Given the description of an element on the screen output the (x, y) to click on. 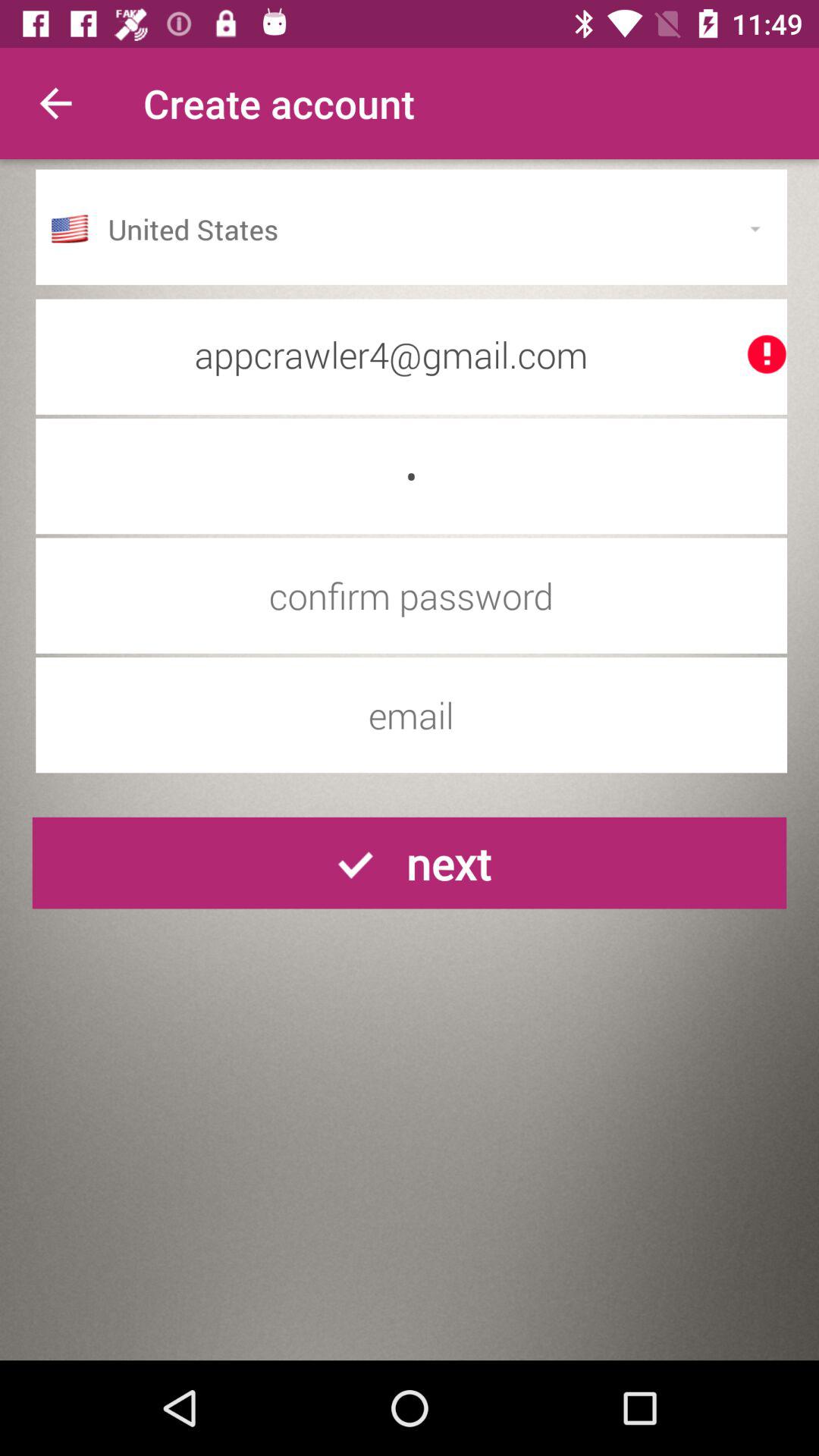
type the password (411, 595)
